Given the description of an element on the screen output the (x, y) to click on. 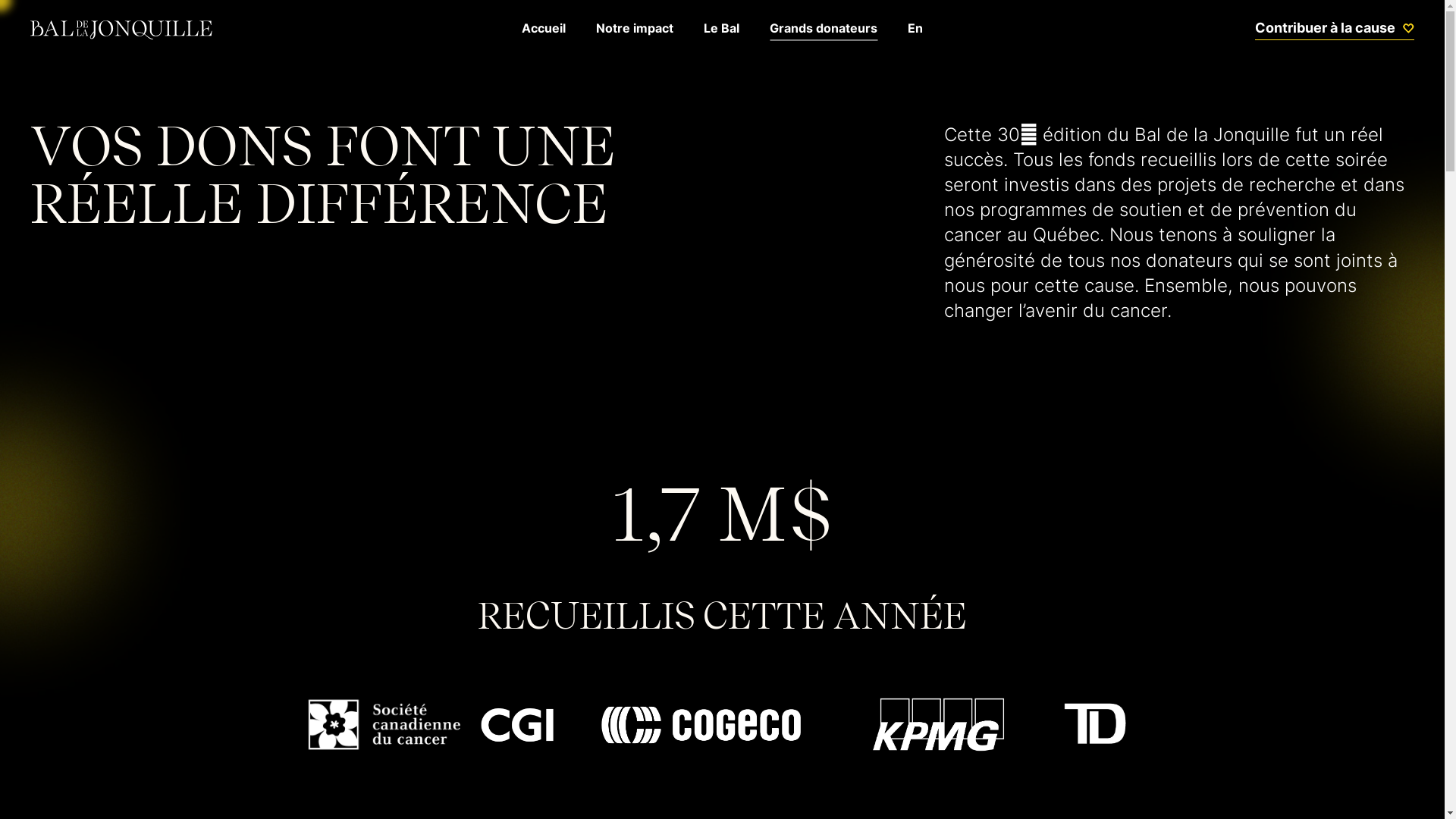
Accueil Element type: text (543, 29)
Grands donateurs Element type: text (823, 29)
En Element type: text (914, 29)
Bal de la Jonquille Element type: text (121, 30)
Notre impact Element type: text (634, 29)
Le Bal Element type: text (721, 29)
